Given the description of an element on the screen output the (x, y) to click on. 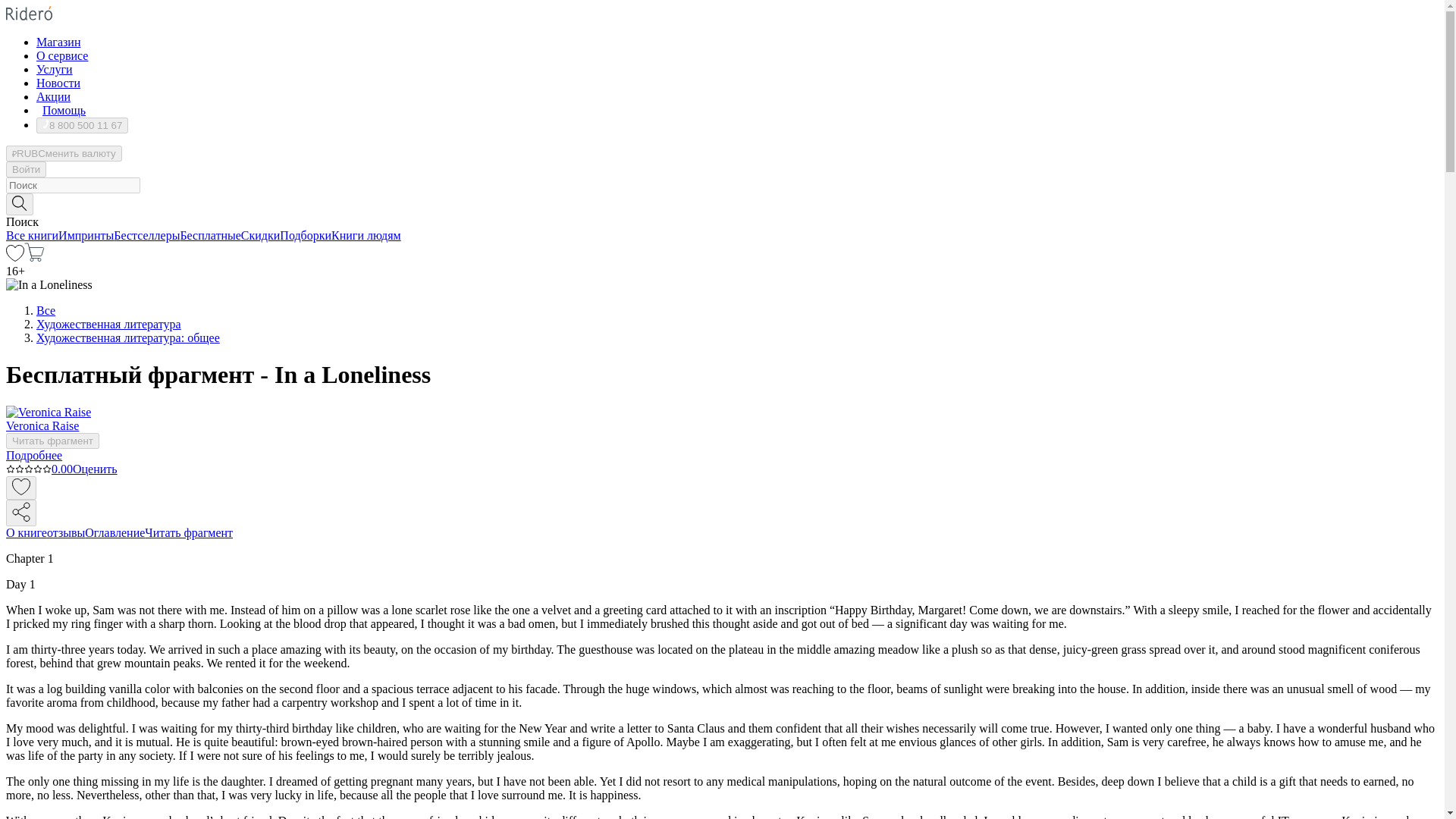
8 800 500 11 67 (82, 125)
0.00 (38, 468)
